Given the description of an element on the screen output the (x, y) to click on. 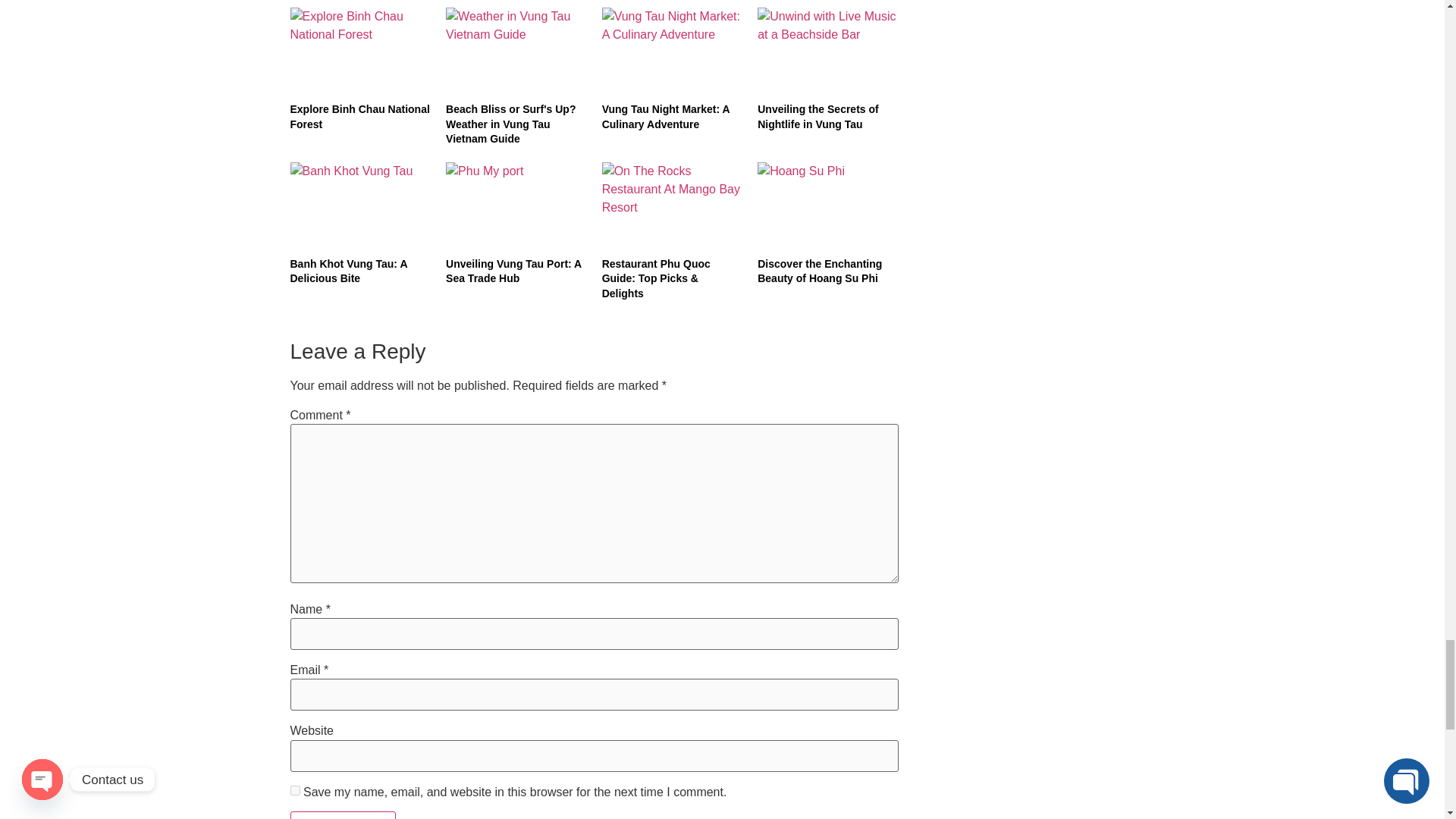
Post Comment (342, 815)
yes (294, 790)
